Given the description of an element on the screen output the (x, y) to click on. 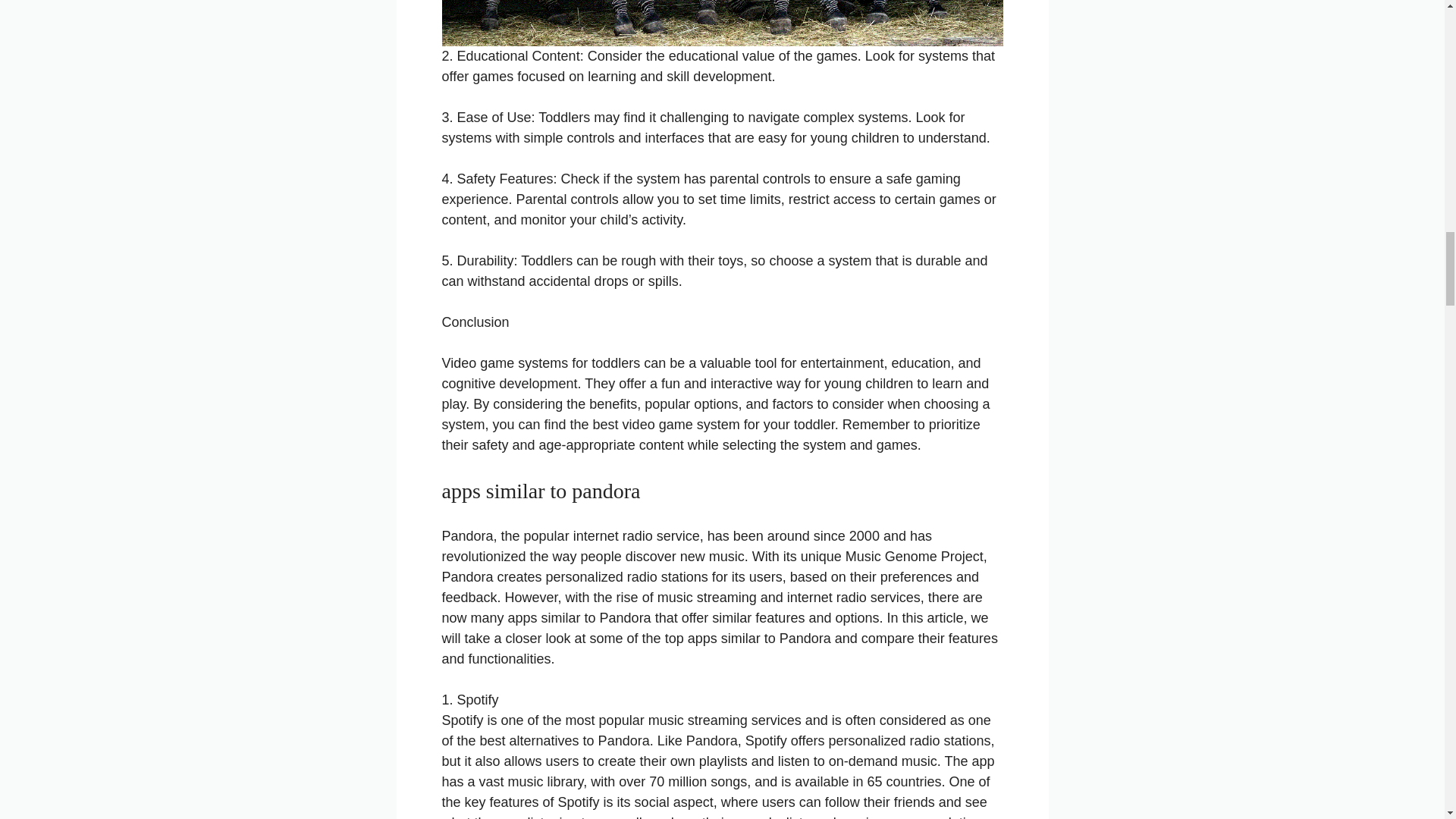
Zebras Stripes (722, 22)
